Given the description of an element on the screen output the (x, y) to click on. 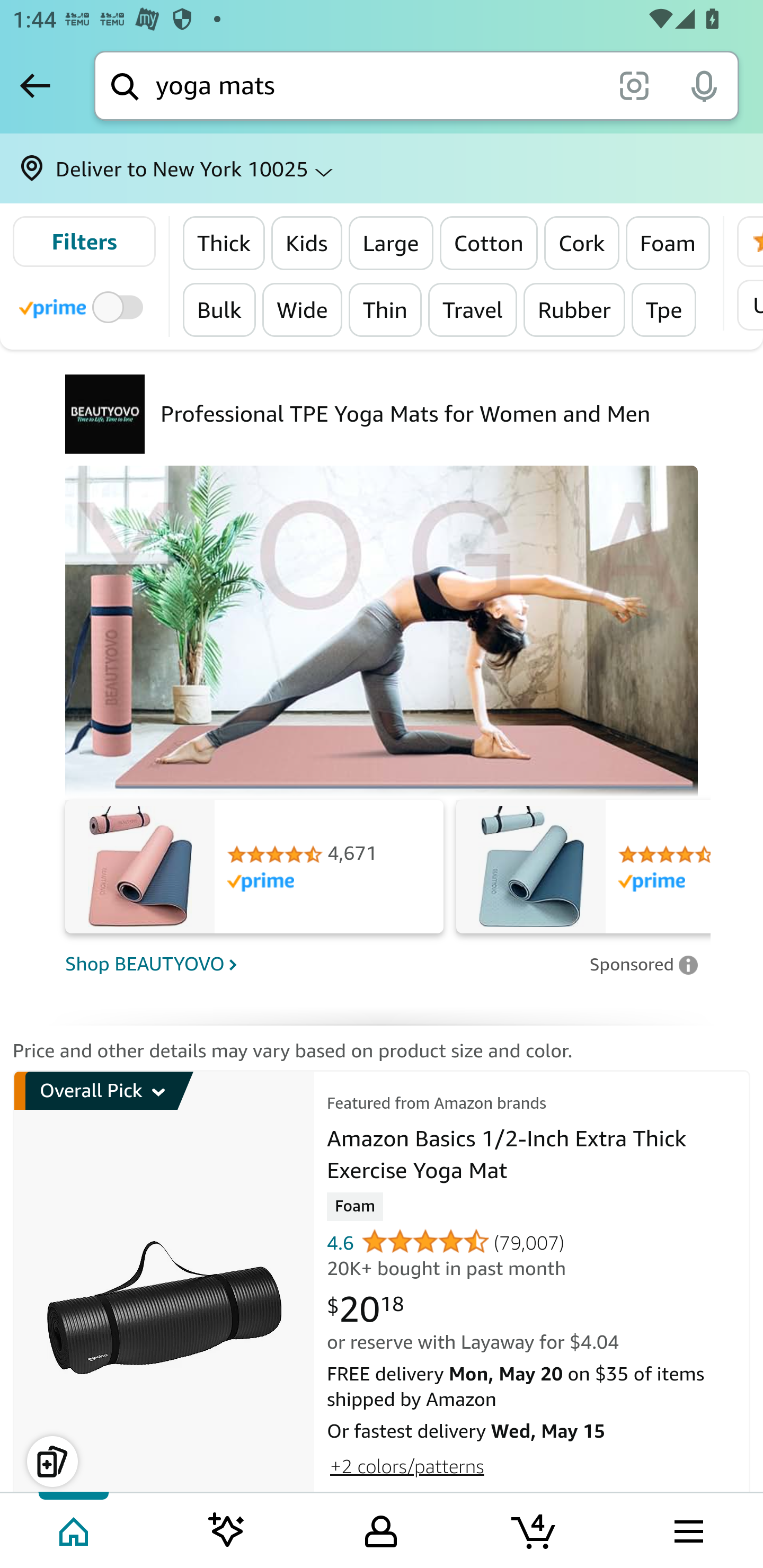
Back (35, 85)
scan it (633, 85)
Deliver to New York 10025 ⌵ (381, 168)
Filters (83, 241)
Thick (224, 242)
Kids (306, 242)
Large (390, 242)
Cotton (488, 242)
Cork (581, 242)
Foam (667, 242)
Toggle to filter by Prime products Prime Eligible (83, 306)
Bulk (219, 309)
Wide (301, 309)
Thin (384, 309)
Travel (472, 309)
Rubber (574, 309)
Tpe (664, 309)
Shop BEAUTYOVO Shop  BEAUTYOVO  (321, 963)
Leave feedback on Sponsored ad (643, 964)
+2 colors/patterns (406, 1465)
Home Tab 1 of 5 (75, 1529)
Inspire feed Tab 2 of 5 (227, 1529)
Your Amazon.com Tab 3 of 5 (380, 1529)
Cart 4 items Tab 4 of 5 4 (534, 1529)
Browse menu Tab 5 of 5 (687, 1529)
